Given the description of an element on the screen output the (x, y) to click on. 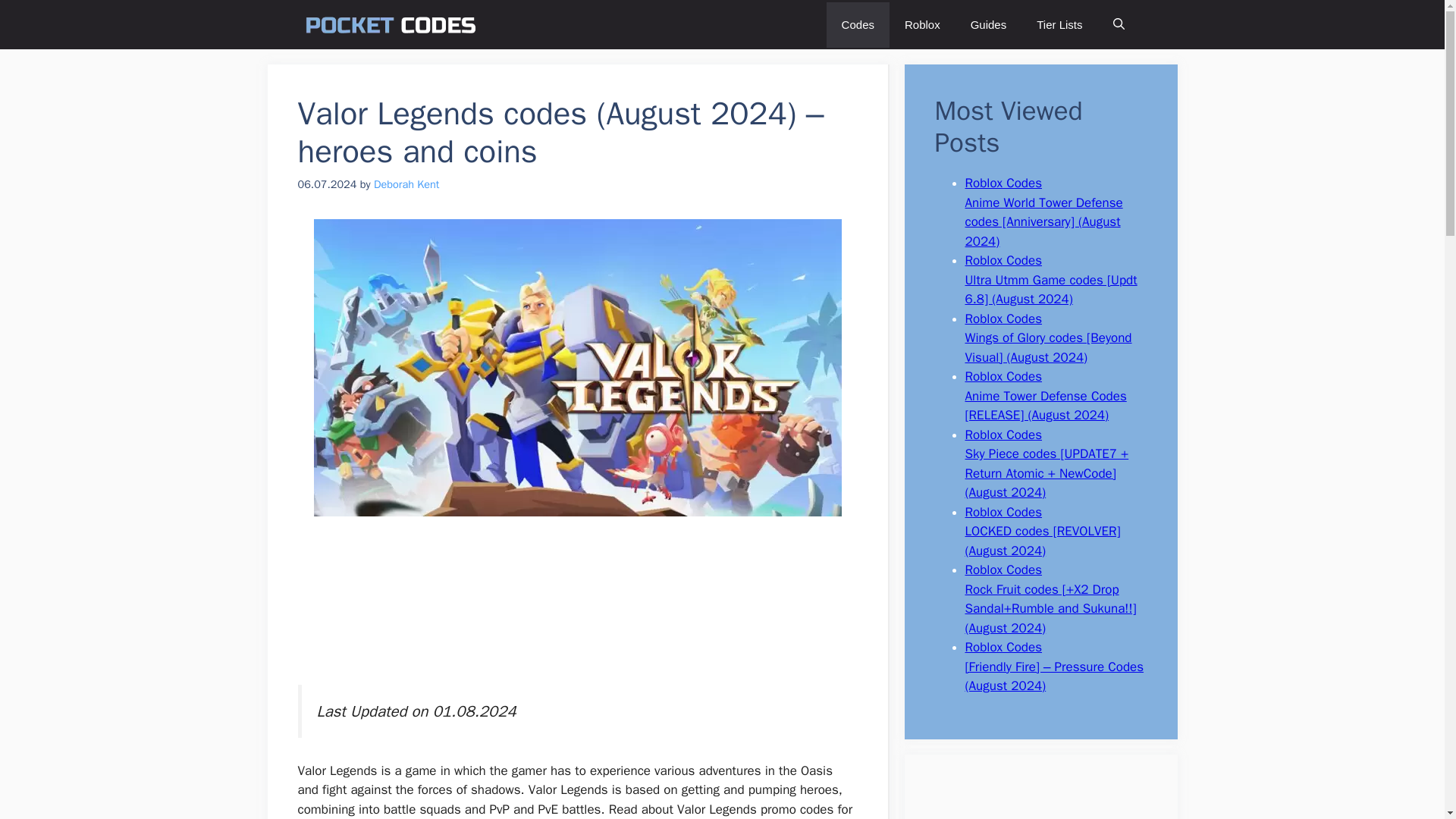
Codes (858, 23)
Advertisement (576, 610)
Tier Lists (1059, 23)
View all posts by Deborah Kent (406, 183)
Deborah Kent (406, 183)
Roblox (922, 23)
Guides (988, 23)
